Given the description of an element on the screen output the (x, y) to click on. 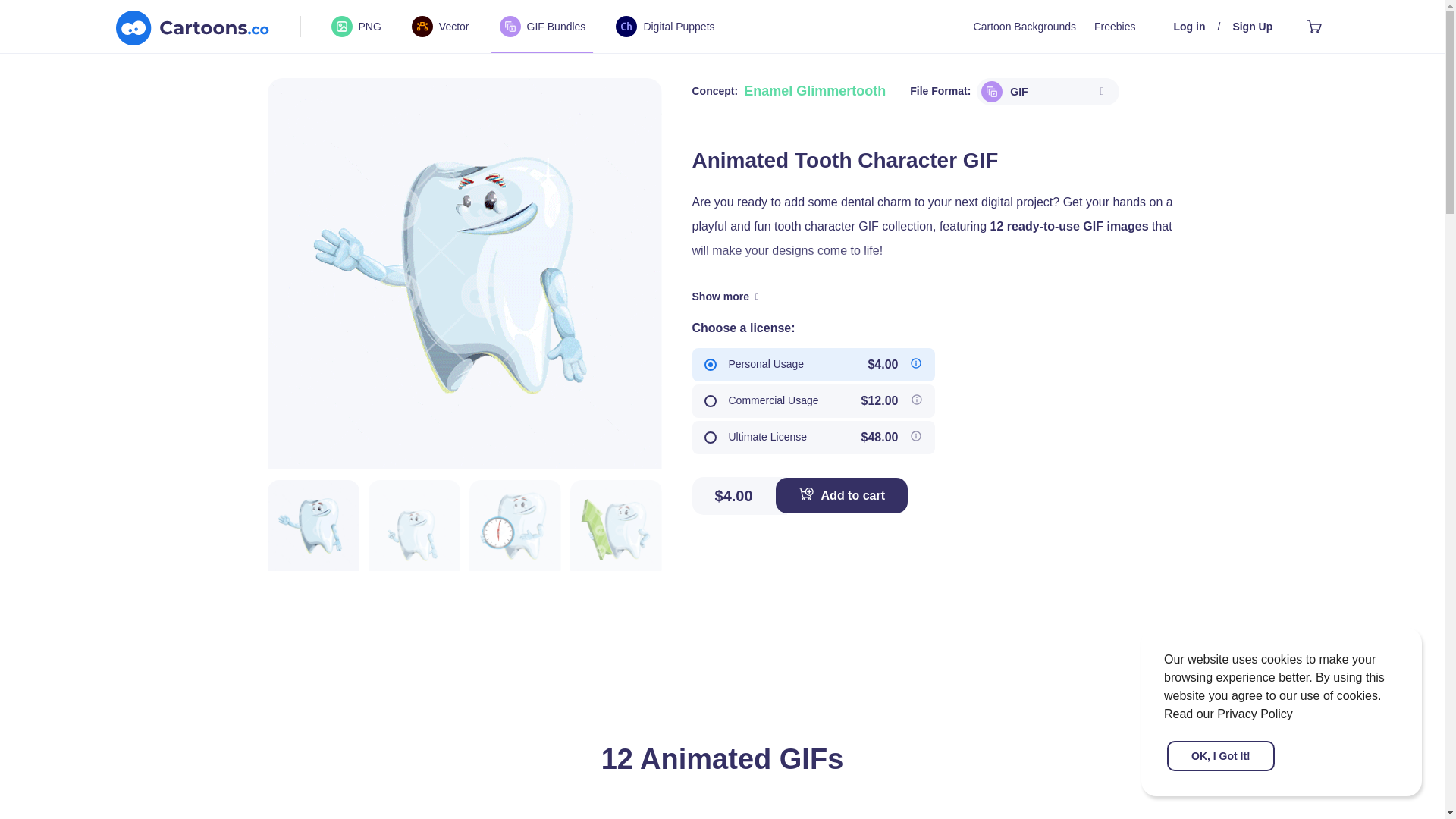
Freebies (1114, 26)
Sign Up (1251, 26)
Enamel Glimmertooth (814, 90)
Vector (440, 25)
Show more (724, 296)
Cartoon Backgrounds (1024, 26)
Add to cart (841, 495)
Log in (1189, 26)
Digital Puppets (664, 25)
PNG (355, 25)
GIF Bundles (542, 25)
